Given the description of an element on the screen output the (x, y) to click on. 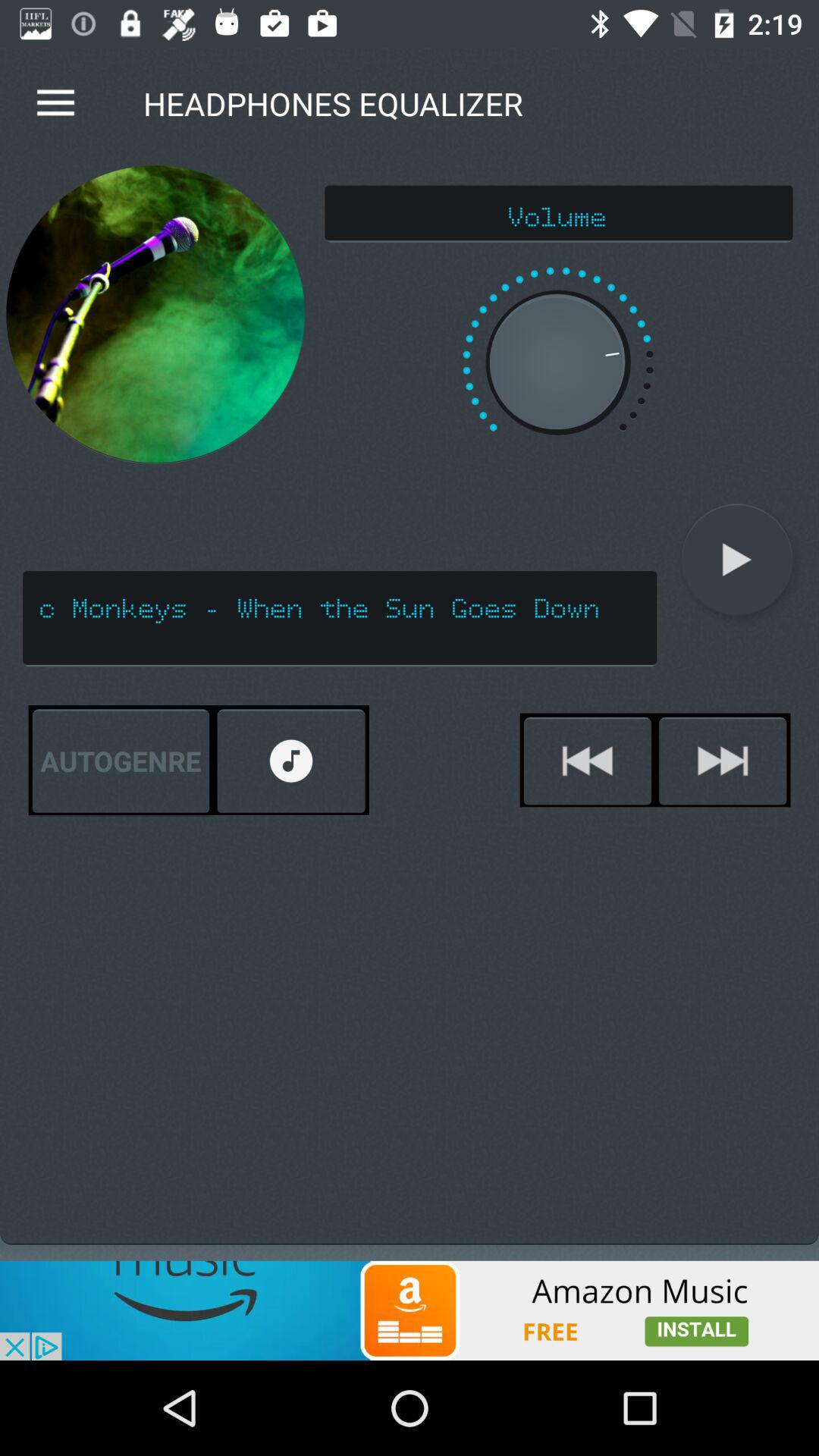
press the item next to the volume (155, 314)
